Given the description of an element on the screen output the (x, y) to click on. 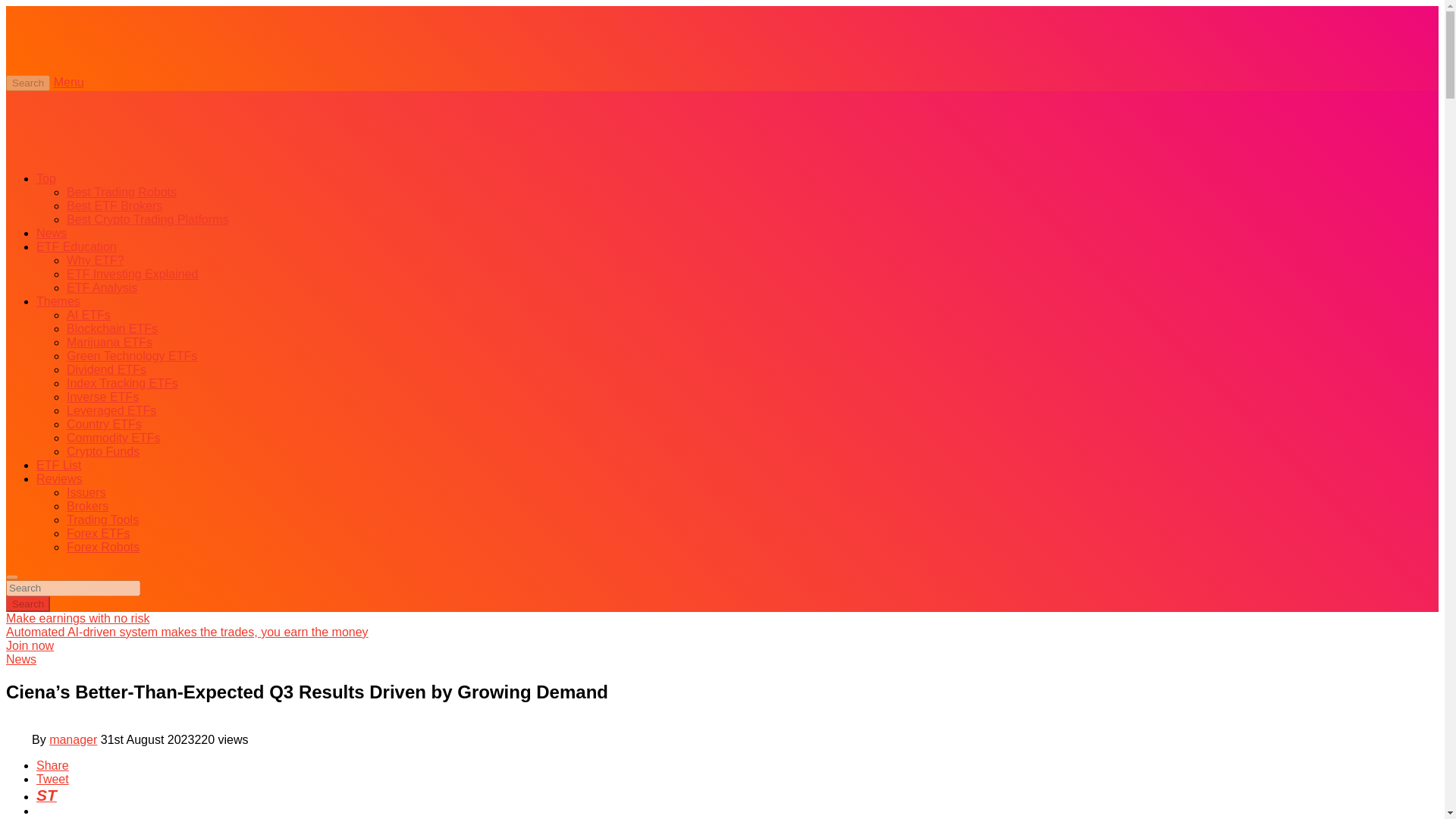
Marijuana ETFs (109, 341)
Crypto Funds (102, 451)
ETF Themes (58, 300)
ETF Analysis (101, 287)
Search (27, 603)
Country ETFs (103, 423)
Leveraged ETFs (110, 410)
Inverse ETFs (102, 396)
Commodity ETFs (113, 437)
Index Tracking ETFs (121, 382)
ETF Education (76, 246)
AI ETFs (88, 314)
Dividend ETFs (106, 369)
manager (73, 739)
ETF Reviews (58, 478)
